Given the description of an element on the screen output the (x, y) to click on. 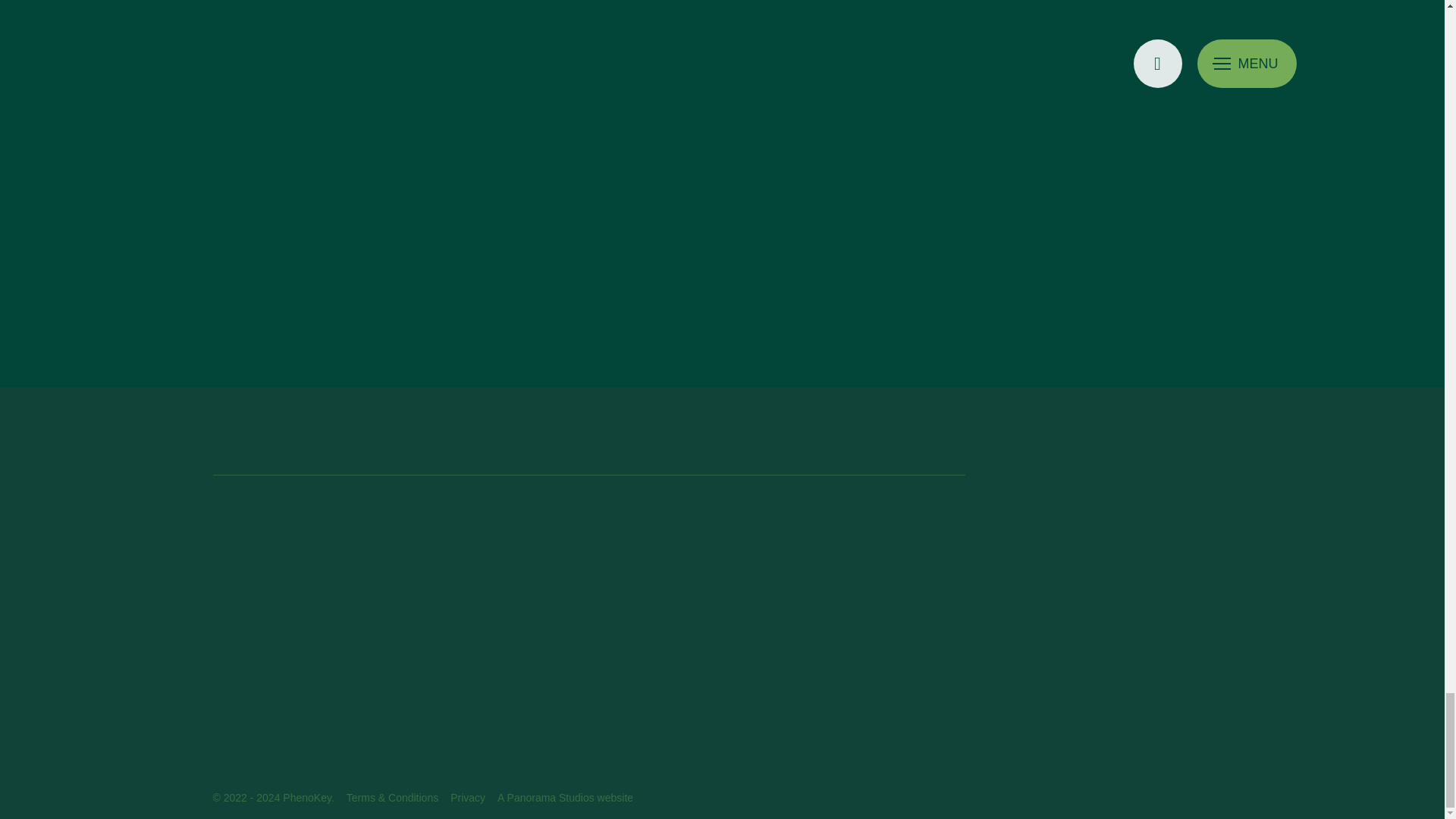
Privacy (466, 797)
